Given the description of an element on the screen output the (x, y) to click on. 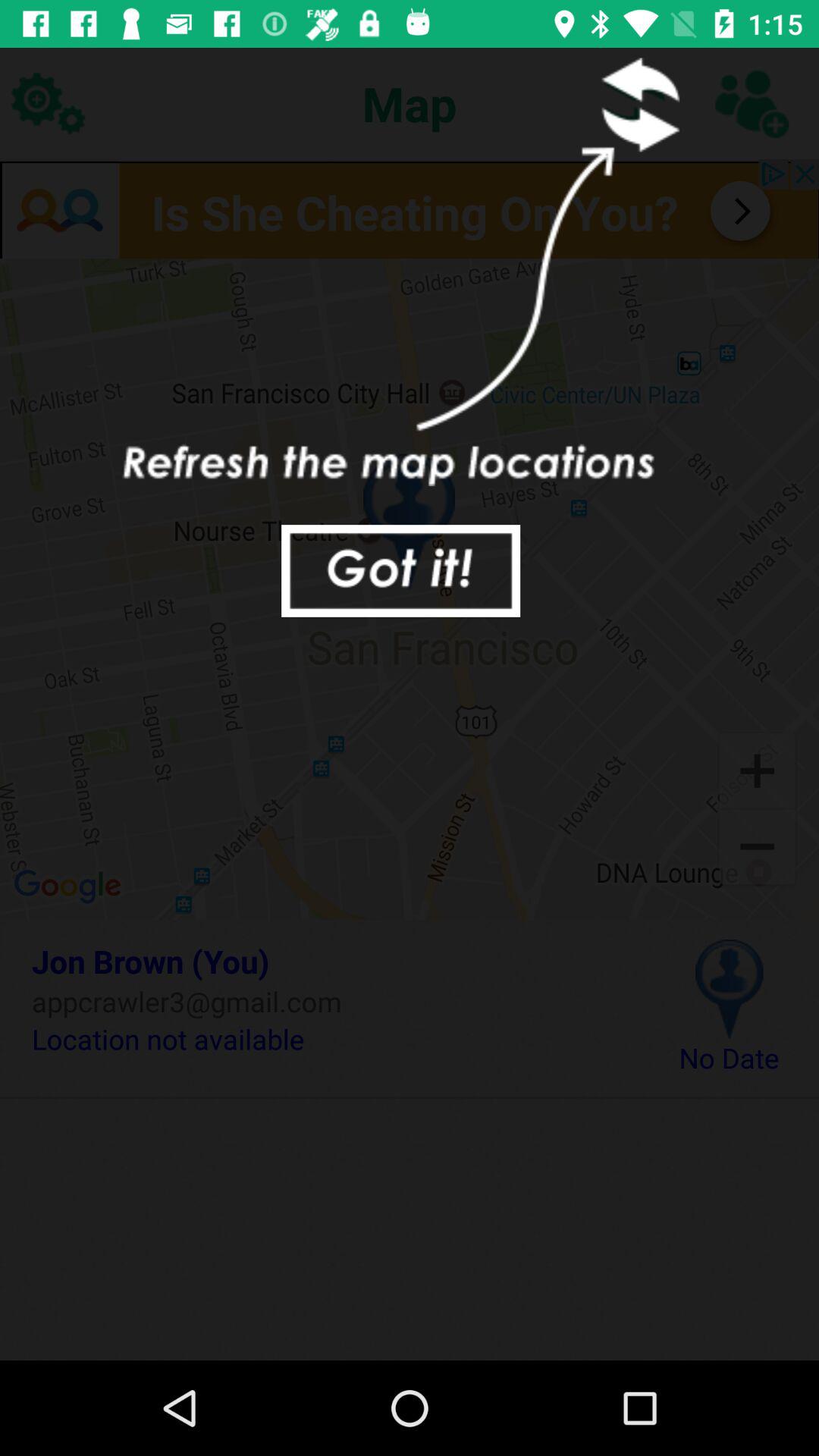
got it (400, 570)
